Given the description of an element on the screen output the (x, y) to click on. 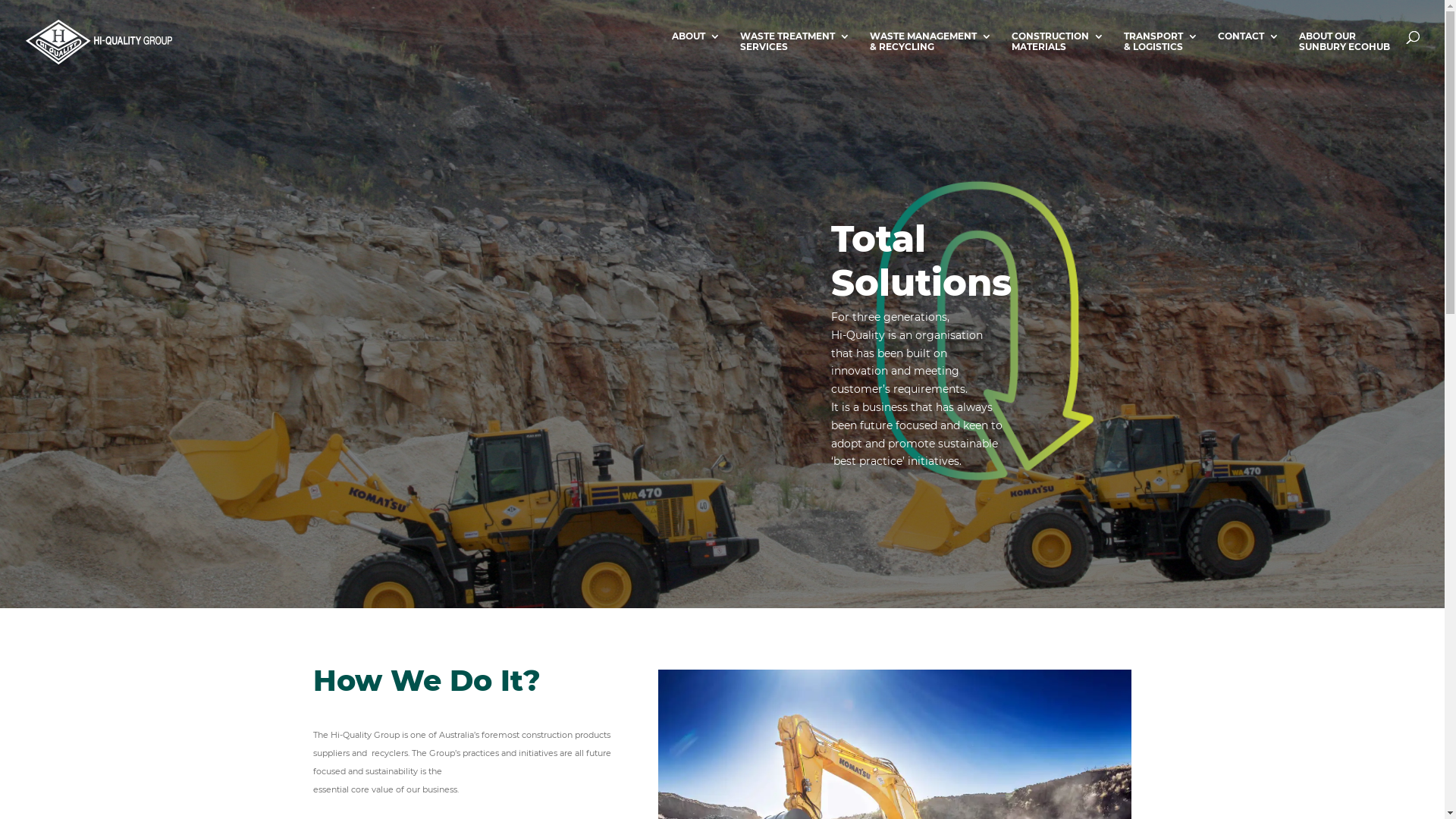
WASTE MANAGEMENT
& RECYCLING Element type: text (930, 57)
CONTACT
  Element type: text (1248, 57)
TRANSPORT
& LOGISTICS Element type: text (1160, 57)
CONSTRUCTION
MATERIALS Element type: text (1057, 57)
ABOUT OUR
SUNBURY ECOHUB Element type: text (1344, 57)
ABOUT
   Element type: text (695, 57)
WASTE TREATMENT
SERVICES Element type: text (795, 57)
